Given the description of an element on the screen output the (x, y) to click on. 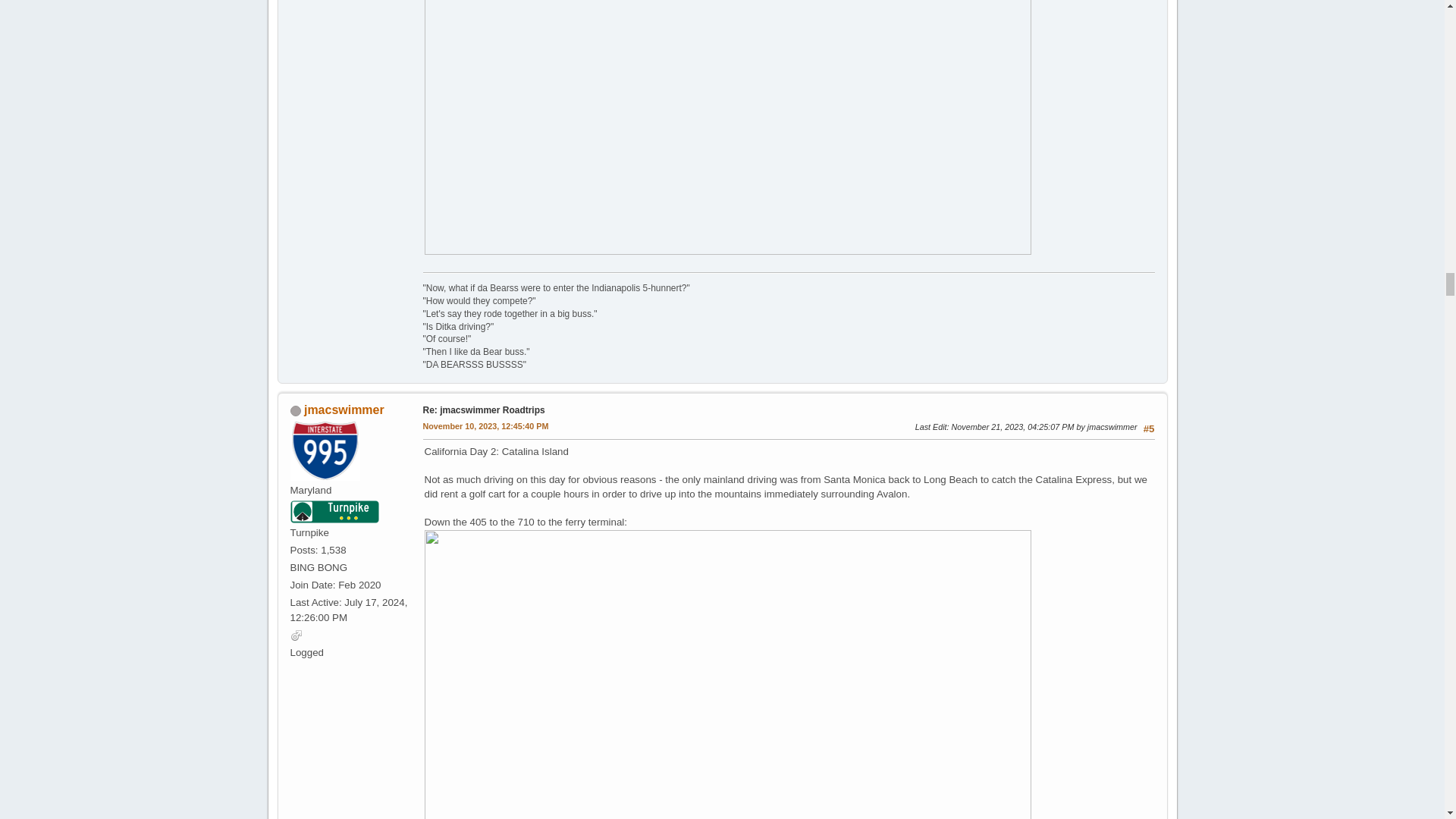
jmacswimmer (344, 409)
